Given the description of an element on the screen output the (x, y) to click on. 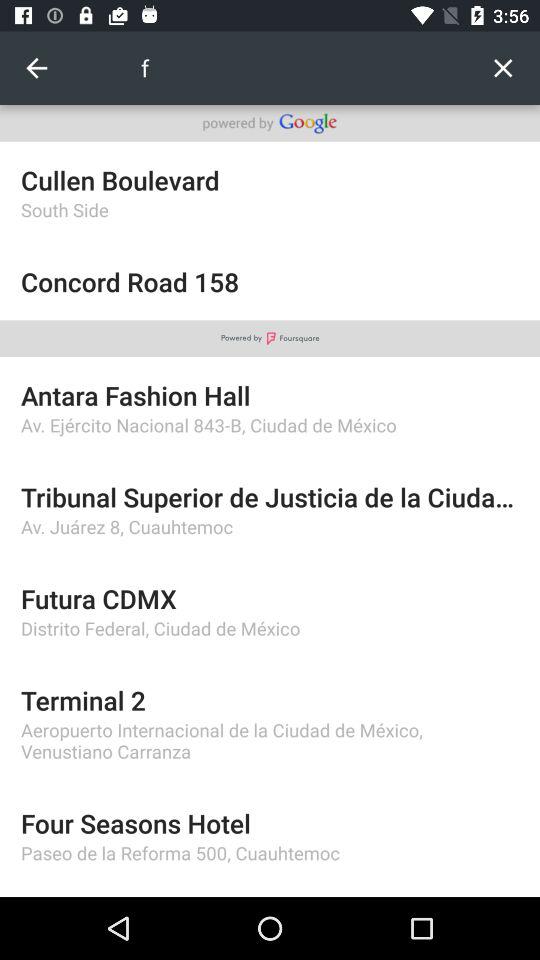
select distrito federal ciudad item (270, 628)
